Given the description of an element on the screen output the (x, y) to click on. 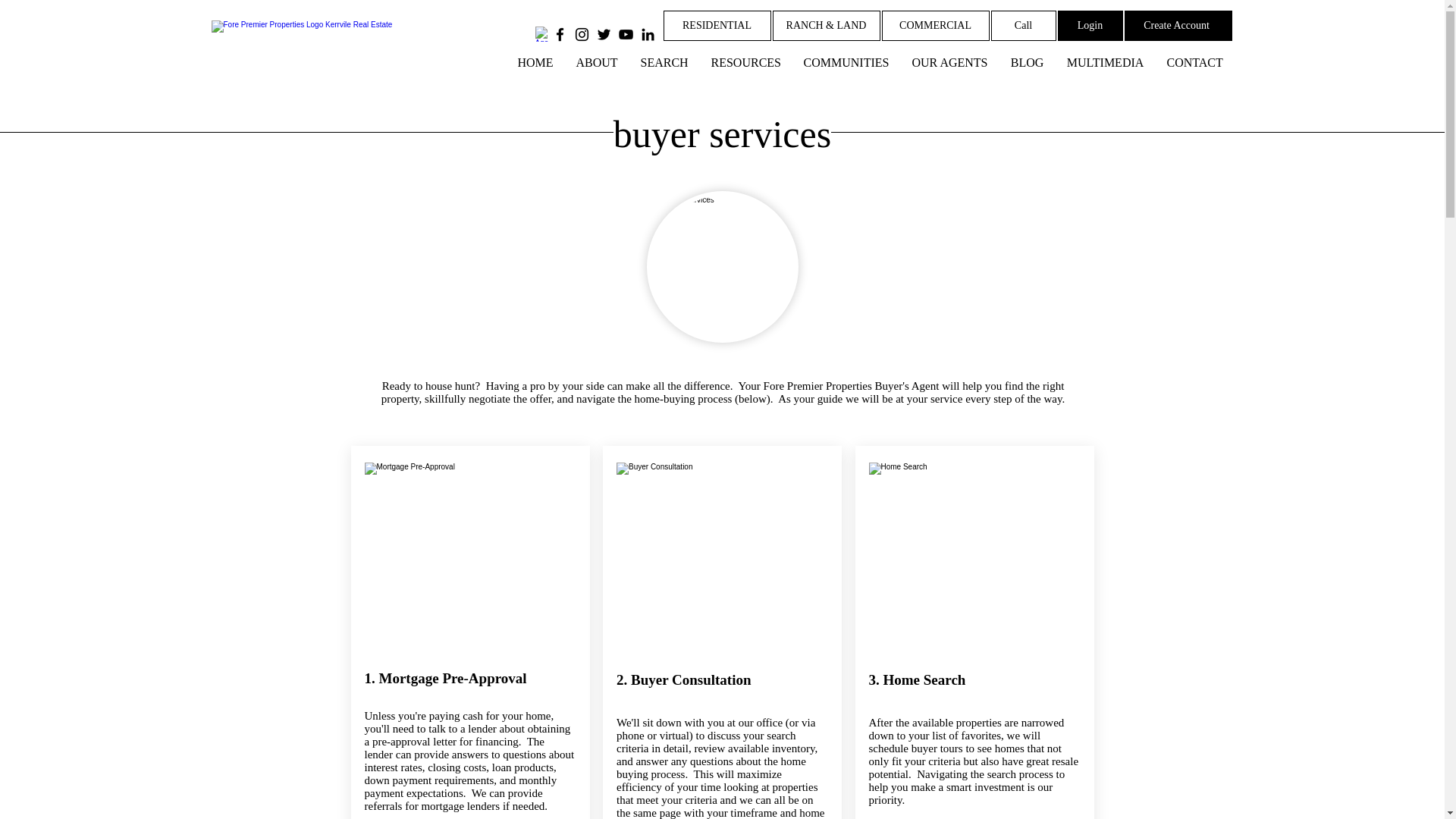
Login (1089, 25)
RESIDENTIAL (716, 25)
HOME (535, 62)
Call (1022, 25)
Create Account (1177, 25)
SEARCH (664, 62)
ABOUT (596, 62)
RESOURCES (745, 62)
COMMERCIAL (934, 25)
